Given the description of an element on the screen output the (x, y) to click on. 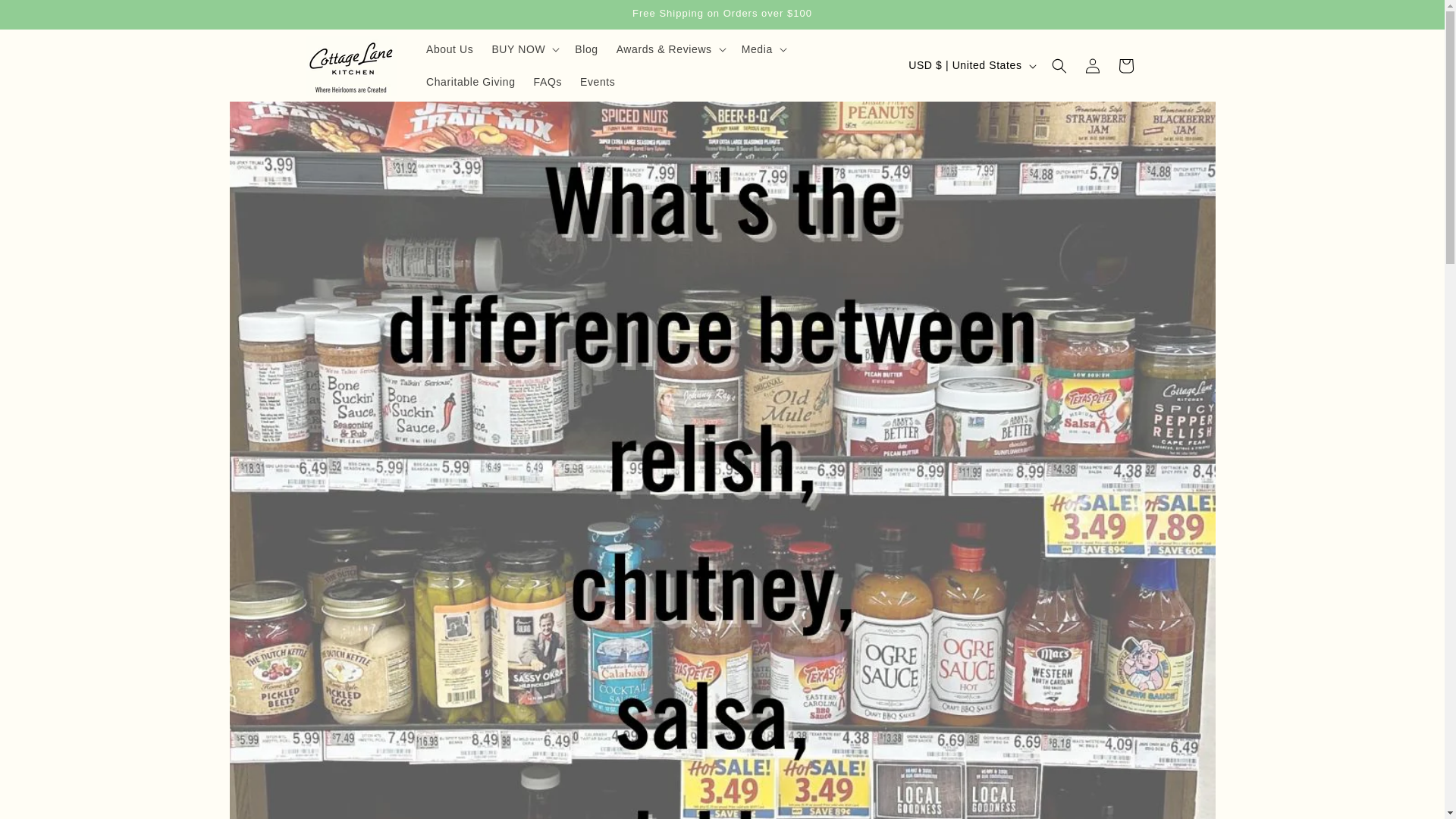
About Us (448, 49)
Blog (586, 49)
Skip to content (45, 16)
